Given the description of an element on the screen output the (x, y) to click on. 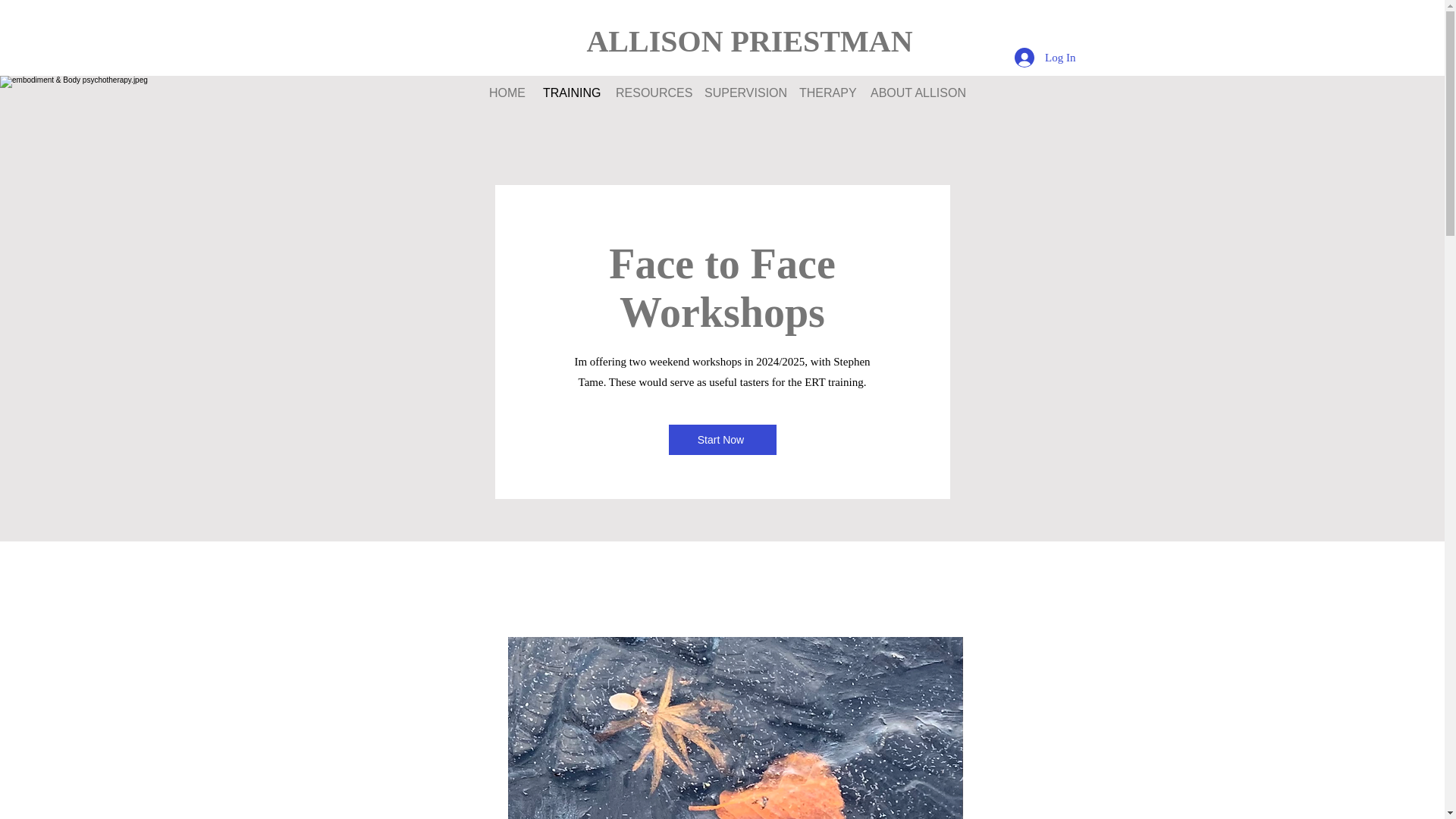
Start Now (722, 440)
ABOUT ALLISON (912, 92)
ALLISON PRIESTMAN (749, 41)
TRAINING (567, 92)
RESOURCES (648, 92)
Log In (1045, 57)
THERAPY (823, 92)
SUPERVISION (740, 92)
HOME (504, 92)
